Given the description of an element on the screen output the (x, y) to click on. 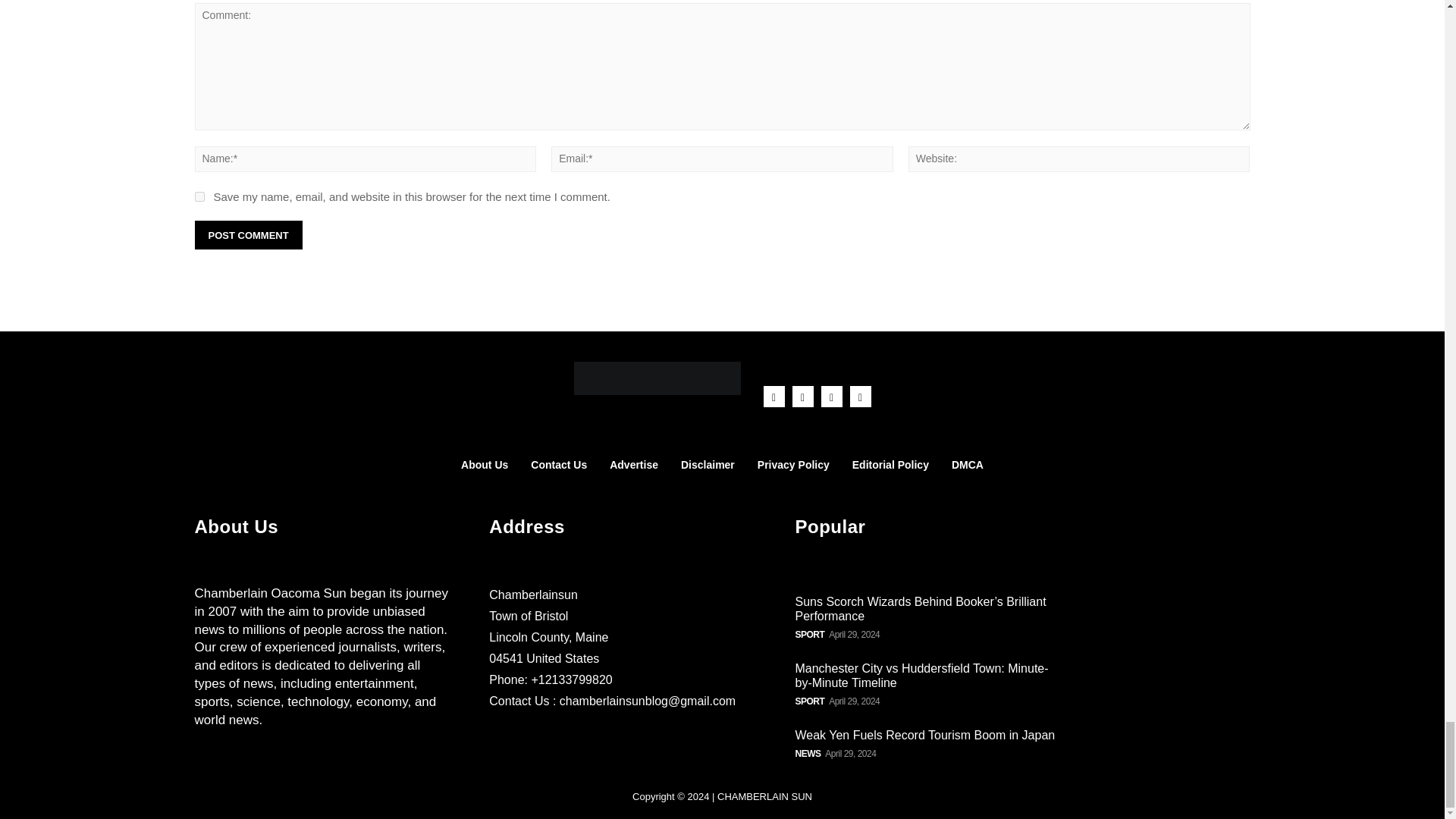
Post Comment (247, 235)
yes (198, 196)
